Given the description of an element on the screen output the (x, y) to click on. 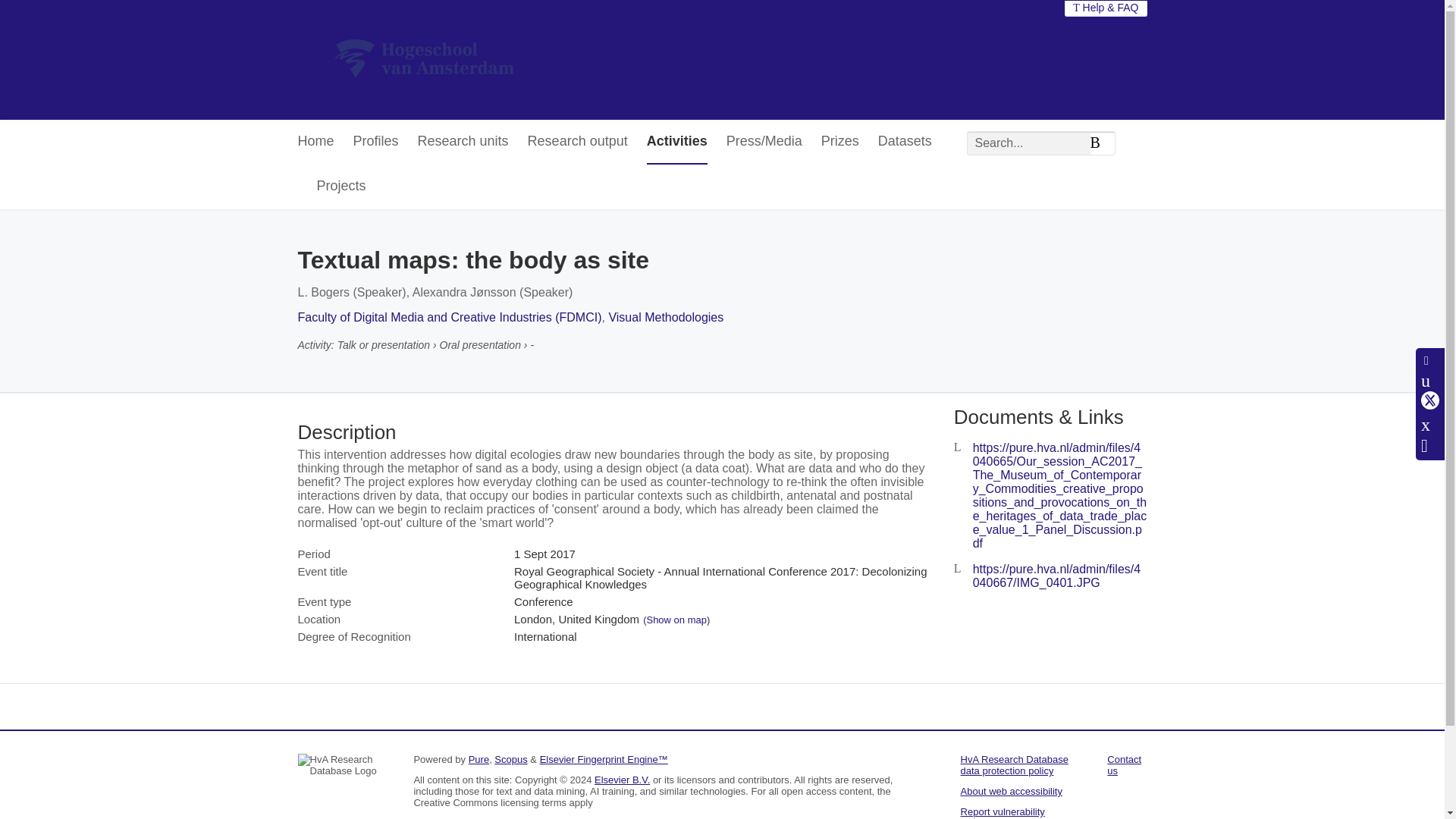
Contact us (1123, 764)
Activities (676, 141)
Research output (577, 141)
HvA Research Database Home (424, 59)
Show on map (676, 619)
Elsevier B.V. (621, 779)
HvA Research Database data protection policy (1014, 764)
Research units (462, 141)
Pure (478, 758)
